Given the description of an element on the screen output the (x, y) to click on. 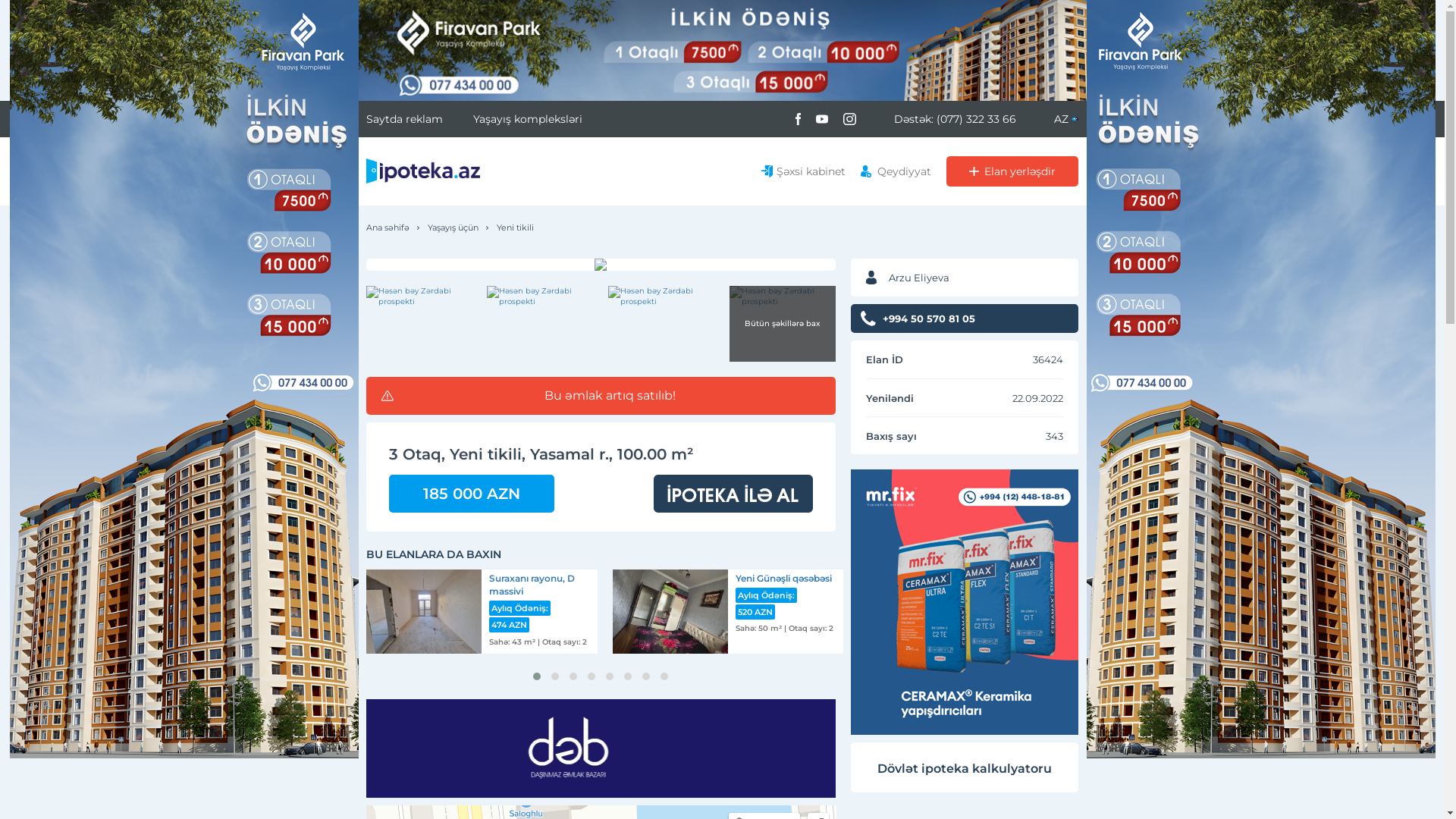
Yeni tikili Element type: text (514, 228)
Saytda reklam Element type: text (403, 118)
Qeydiyyat Element type: text (895, 170)
